Given the description of an element on the screen output the (x, y) to click on. 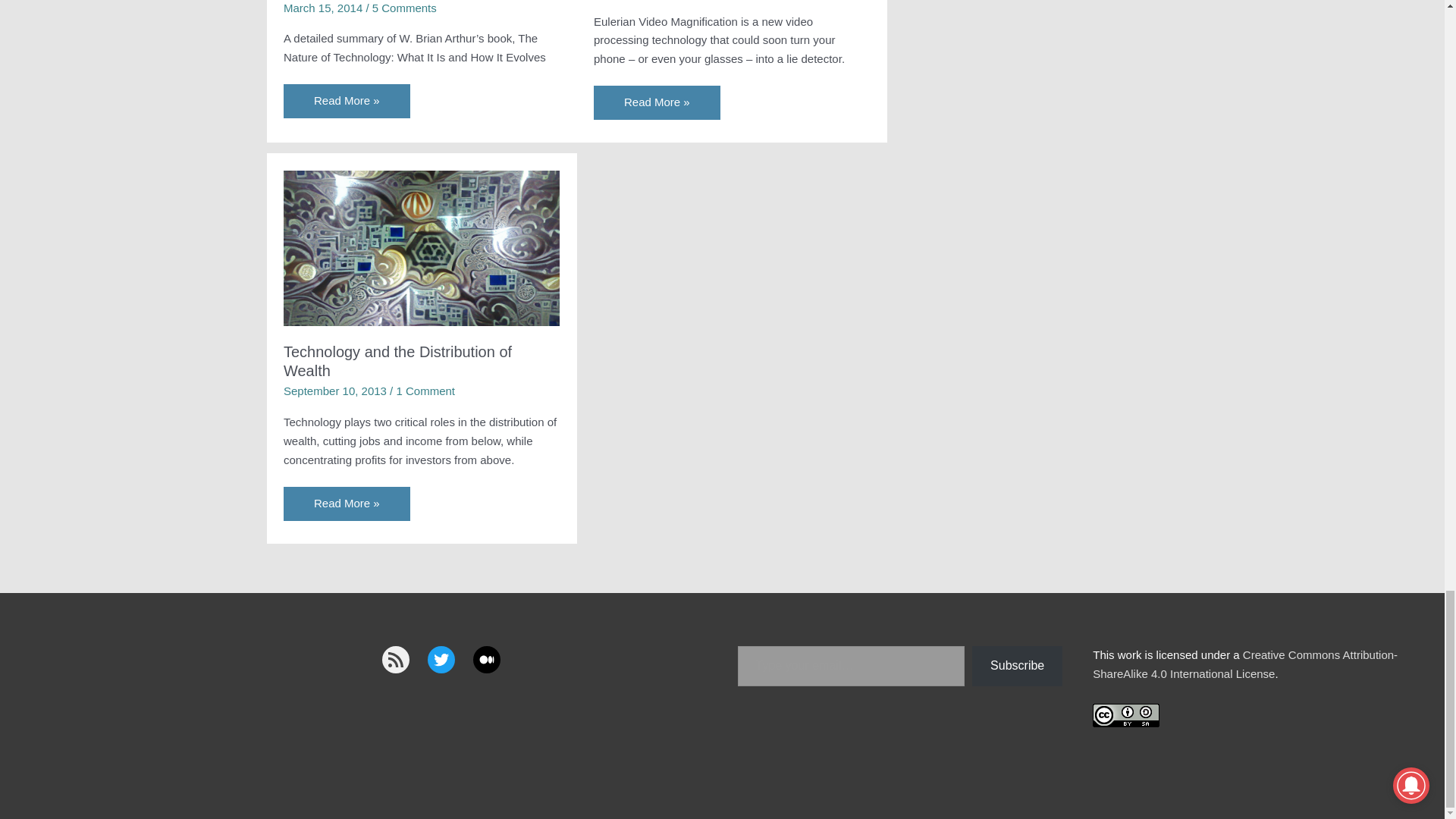
Please fill in this field. (849, 666)
